Given the description of an element on the screen output the (x, y) to click on. 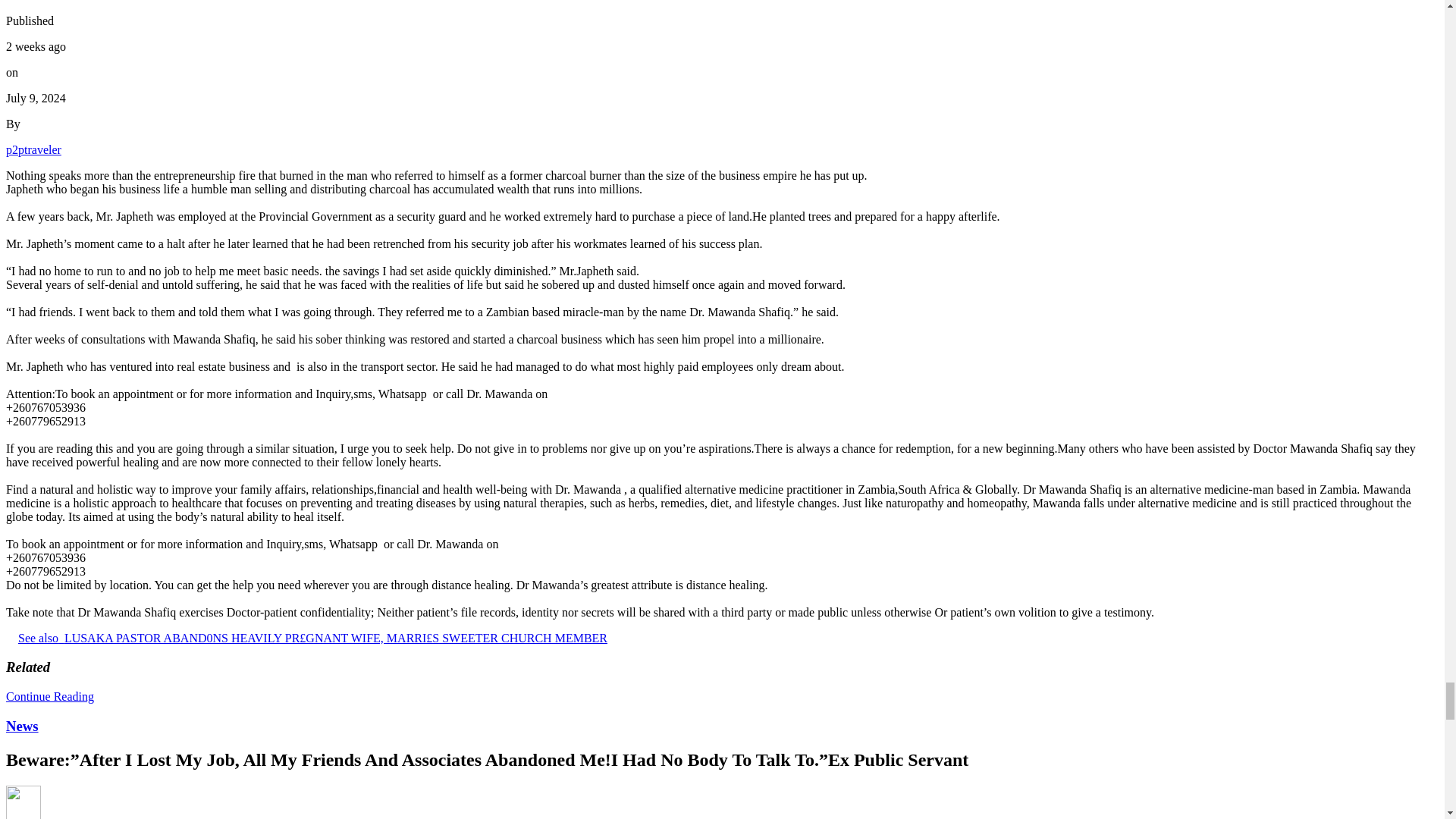
Posts by p2ptraveler (33, 149)
